Given the description of an element on the screen output the (x, y) to click on. 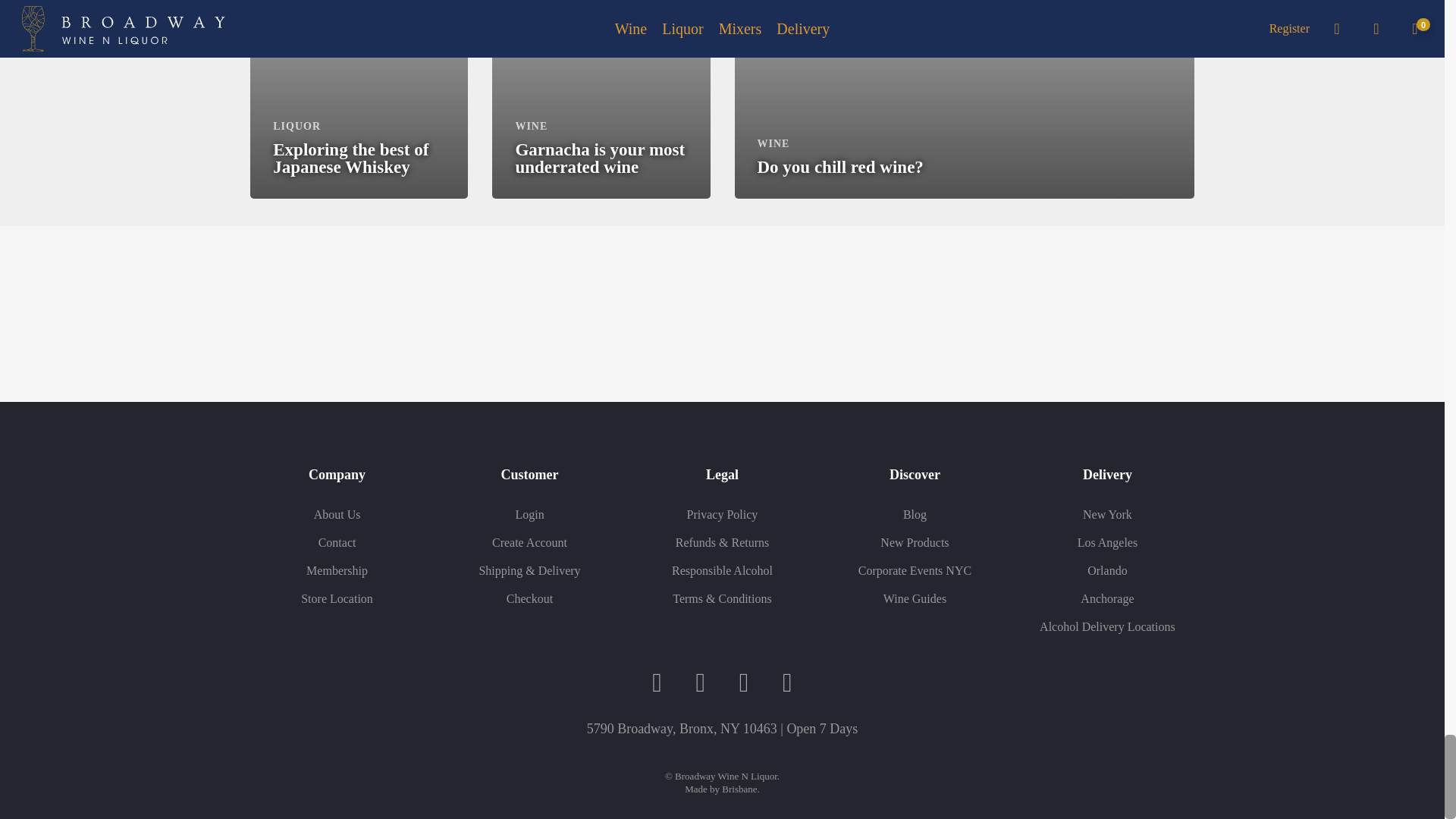
Instagram (699, 683)
Google Maps (787, 683)
Facebook (657, 683)
Brisbane Agency (739, 788)
